Given the description of an element on the screen output the (x, y) to click on. 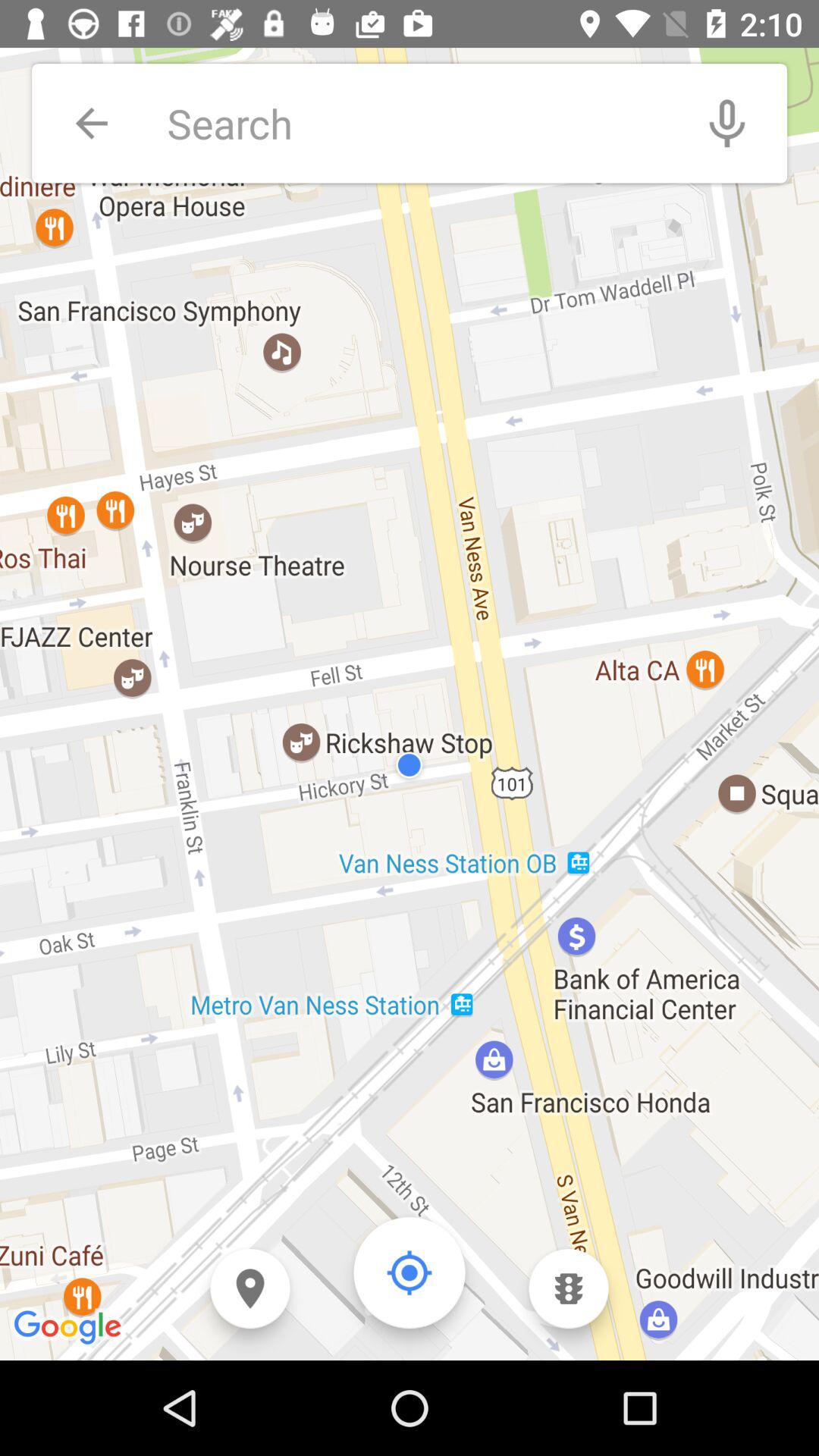
tap icon at the top left corner (91, 123)
